Given the description of an element on the screen output the (x, y) to click on. 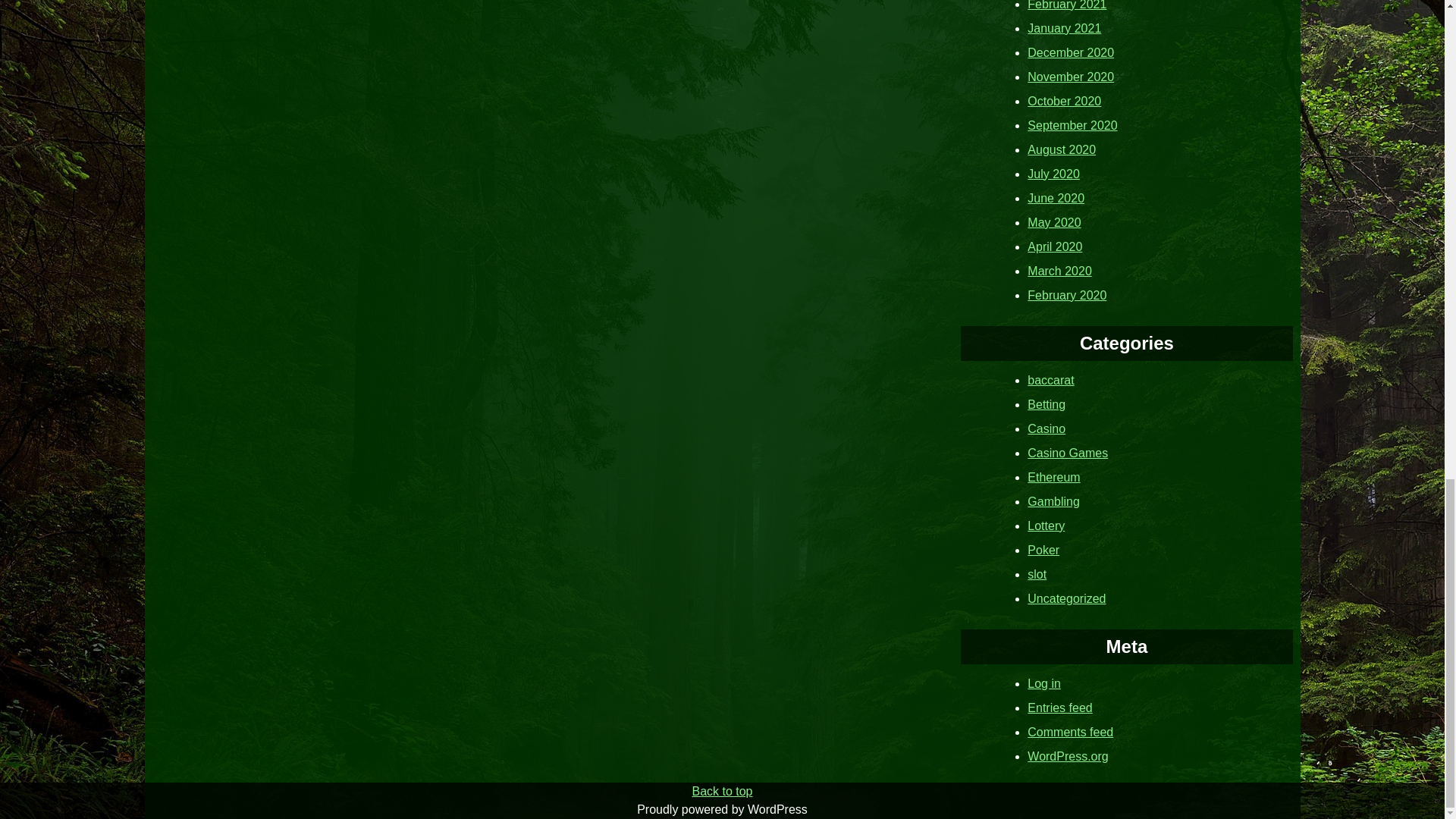
February 2021 (1066, 4)
